Given the description of an element on the screen output the (x, y) to click on. 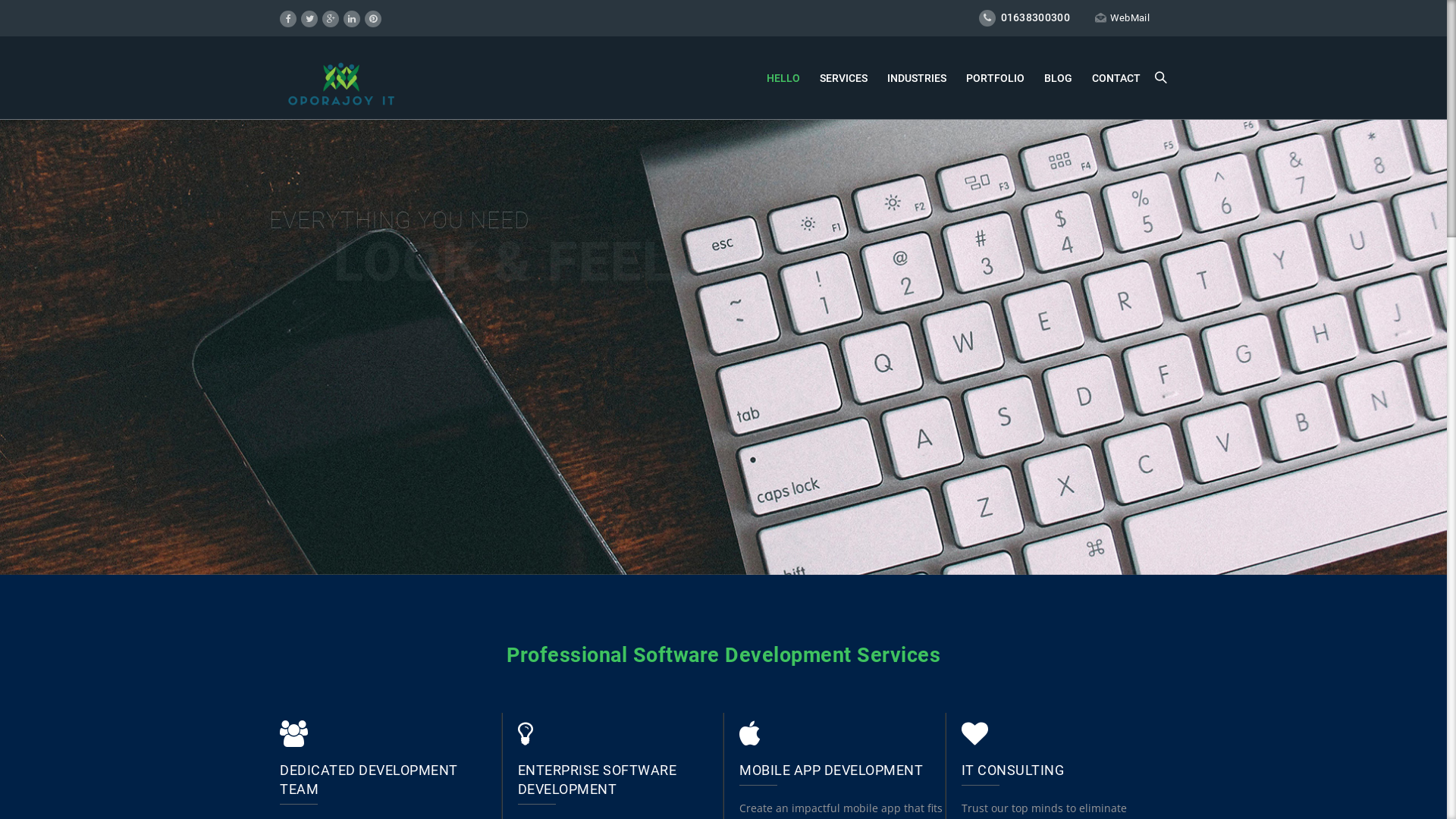
HELLO Element type: text (782, 78)
SERVICES Element type: text (843, 78)
PORTFOLIO Element type: text (995, 78)
INDUSTRIES Element type: text (916, 78)
BLOG Element type: text (1058, 78)
WebMail Element type: text (1122, 17)
CONTACT Element type: text (1116, 78)
